Given the description of an element on the screen output the (x, y) to click on. 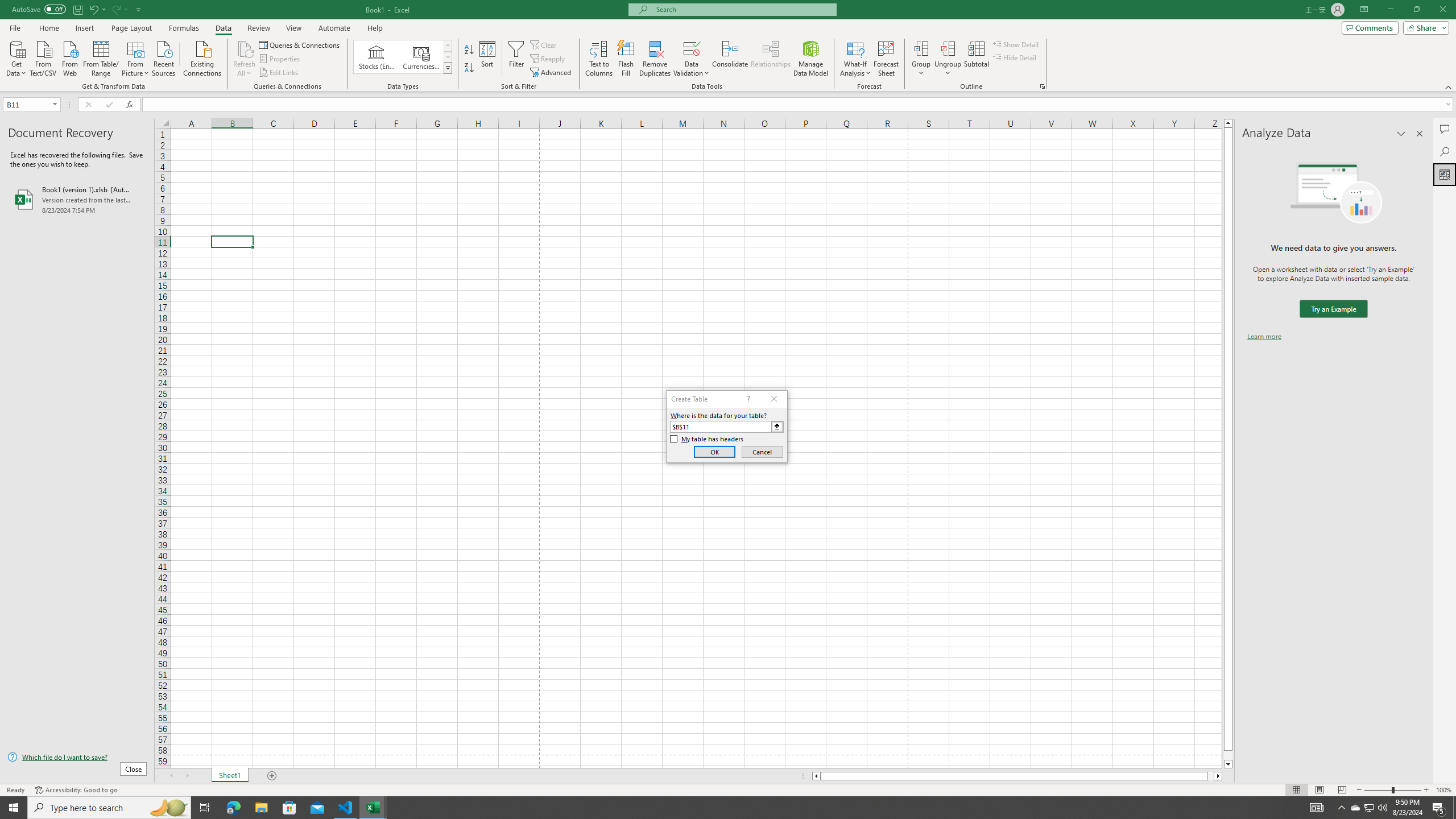
Class: NetUIScrollBar (1016, 775)
Task Pane Options (1400, 133)
Accessibility Checker Accessibility: Good to go (76, 790)
Group... (921, 58)
Refresh All (244, 48)
What-If Analysis (855, 58)
Name Box (30, 104)
Page right (1211, 775)
Page Break Preview (1342, 790)
Clear (544, 44)
Class: NetUIImage (447, 68)
Sheet1 (229, 775)
From Text/CSV (43, 57)
Group... (921, 48)
Customize Quick Access Toolbar (139, 9)
